Given the description of an element on the screen output the (x, y) to click on. 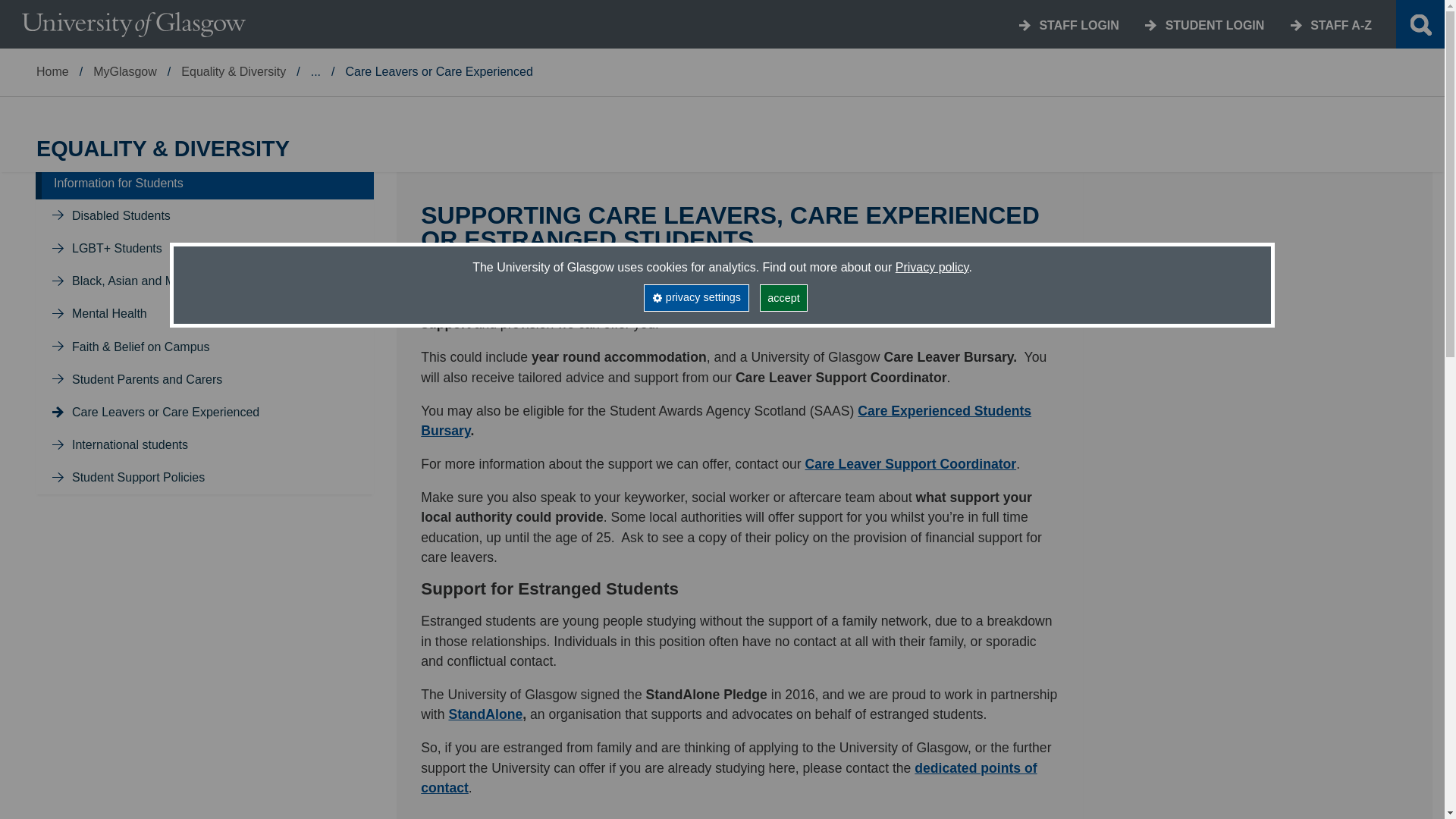
STAFF LOGIN (1078, 24)
Home (52, 71)
Disabled Students (120, 215)
Information for Students (118, 182)
Mental Health (109, 313)
Student Parents and Carers (146, 379)
STUDENT LOGIN (1215, 24)
STAFF A-Z (1340, 24)
privacy settings (695, 298)
Black, Asian and Minority Ethnic Students (183, 280)
accept (784, 298)
International students (129, 444)
Care Leavers or Care Experienced (165, 411)
MyGlasgow (125, 71)
Privacy policy (932, 267)
